Given the description of an element on the screen output the (x, y) to click on. 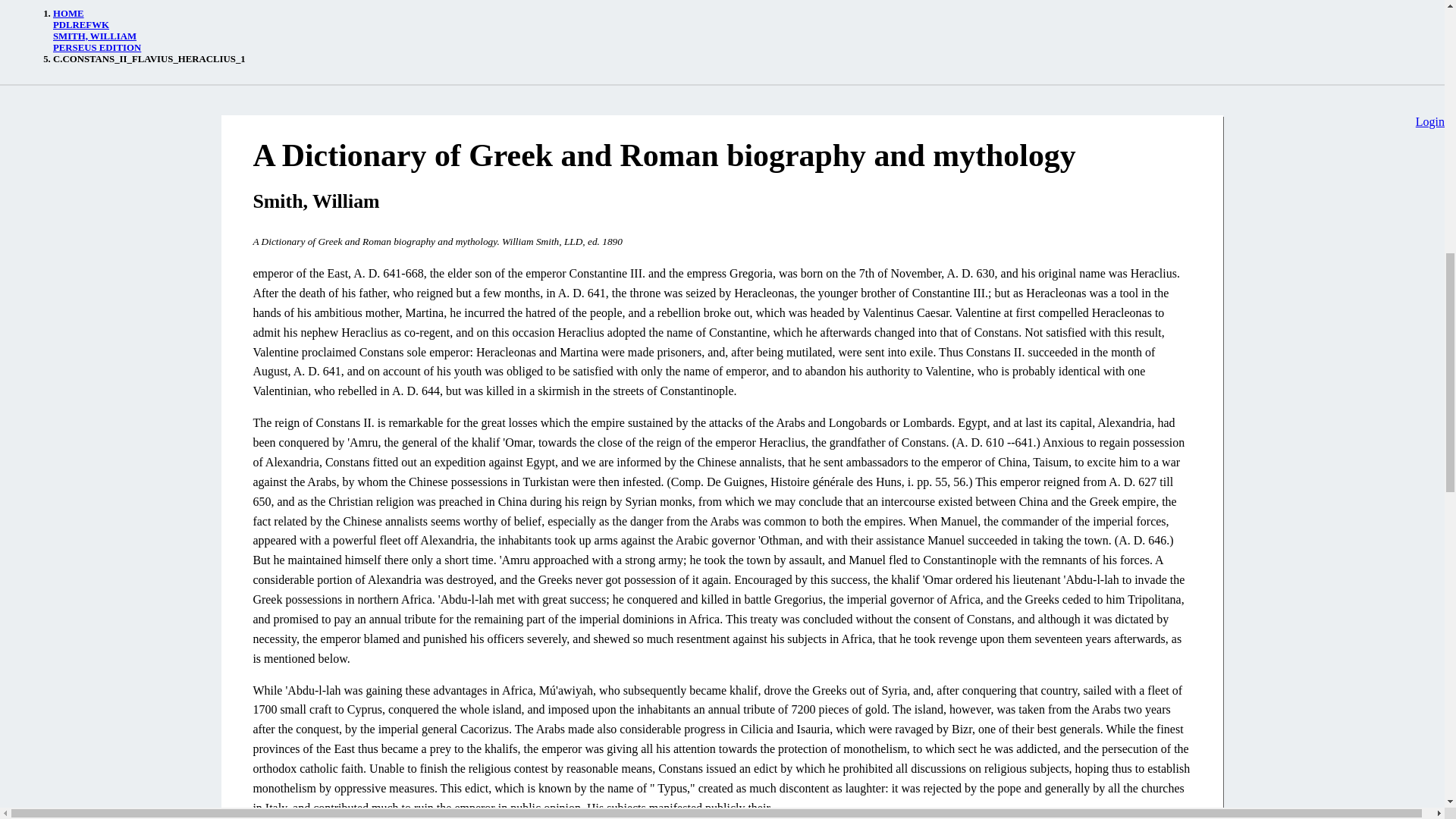
HOME (68, 13)
PDLREFWK (80, 24)
PERSEUS EDITION (96, 47)
SMITH, WILLIAM (94, 36)
Login (1429, 121)
